Given the description of an element on the screen output the (x, y) to click on. 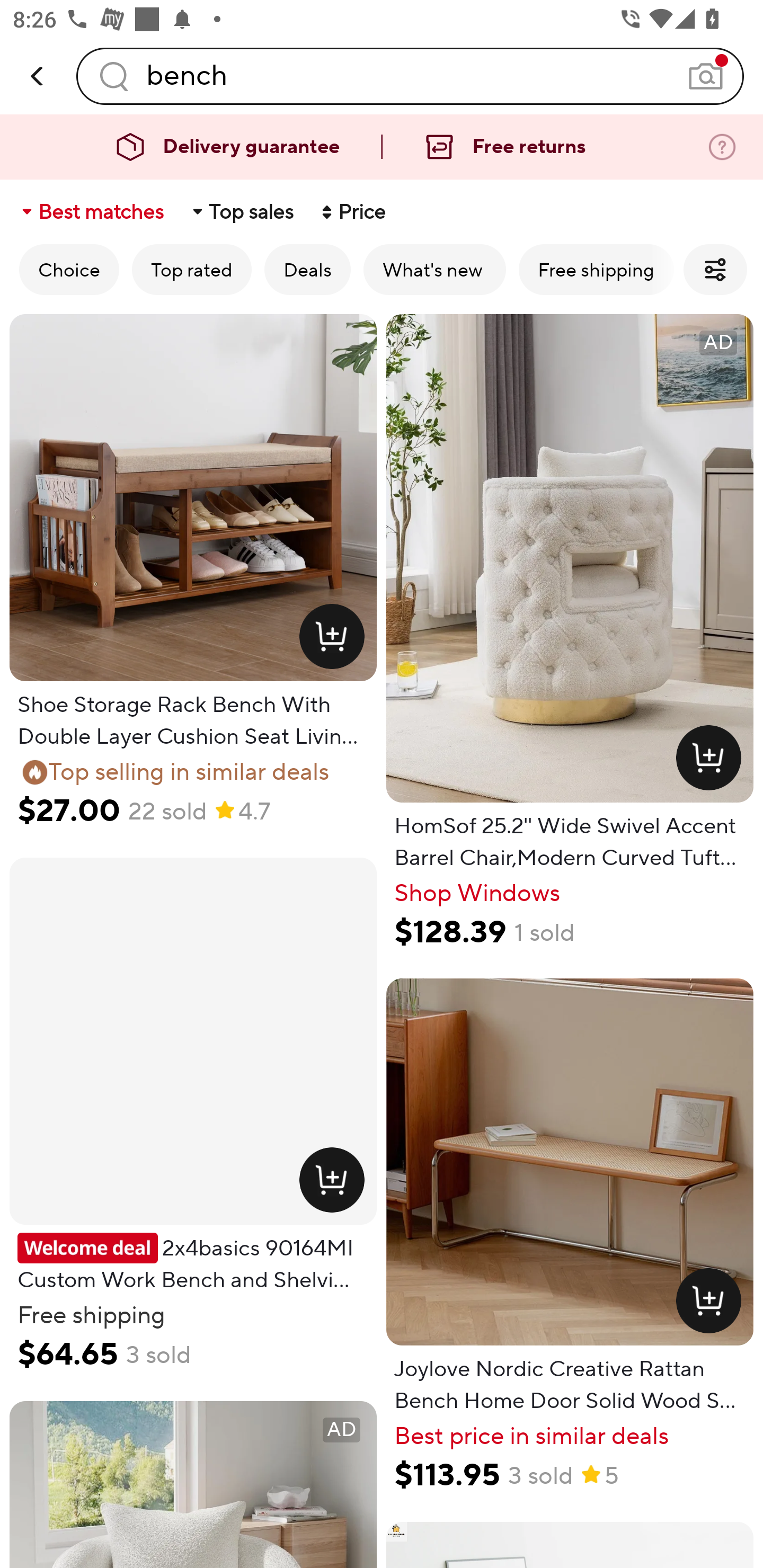
back (38, 75)
bench Search query (409, 76)
bench Search query (409, 76)
Best matches (91, 212)
Top sales (241, 212)
Price (352, 212)
Choice (69, 269)
Top rated (191, 269)
Deals (307, 269)
What's new  (434, 269)
Free shipping (595, 269)
